Given the description of an element on the screen output the (x, y) to click on. 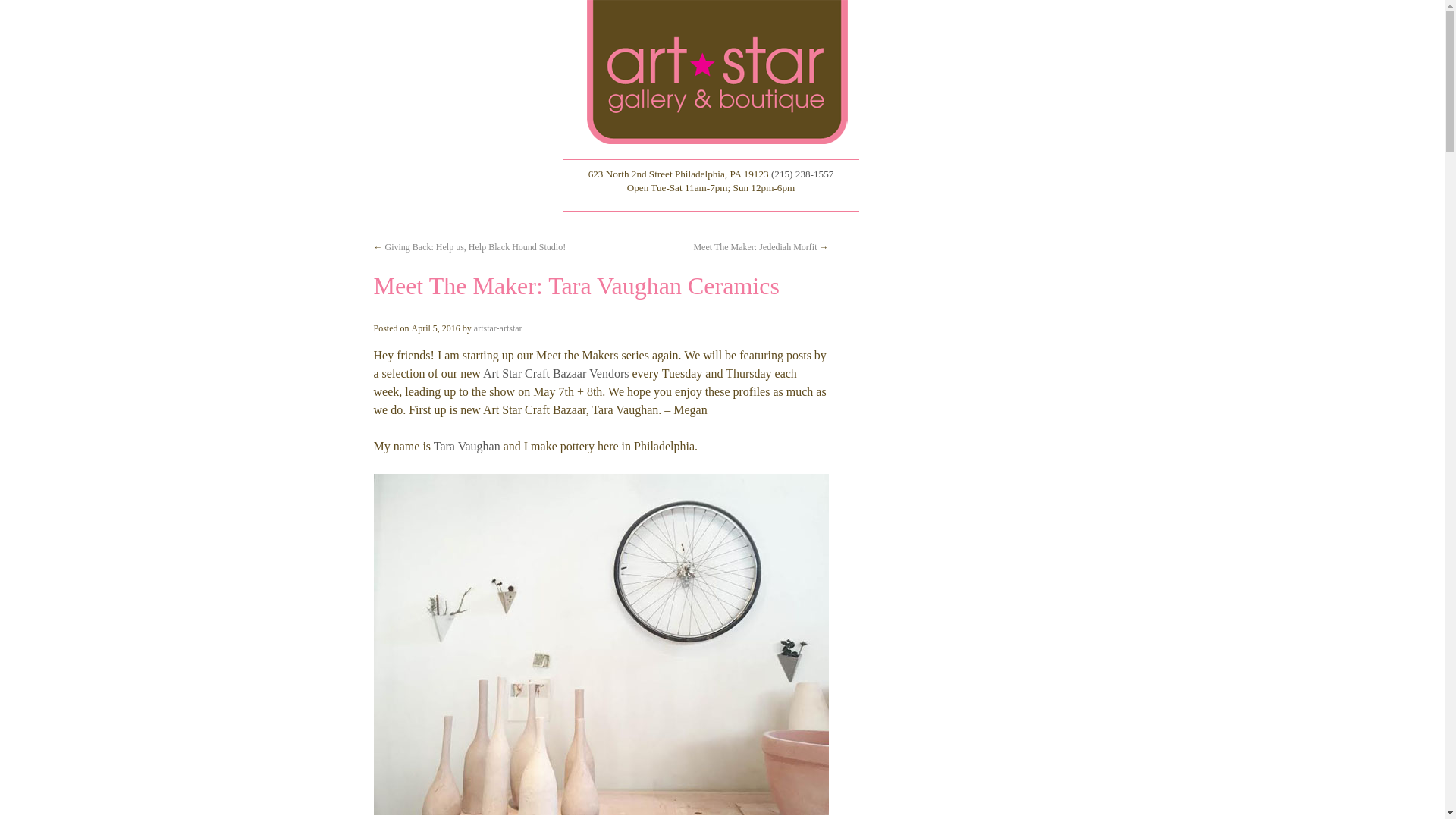
Art Star (721, 72)
Art Star Craft Bazaar Vendors (555, 373)
artstar-artstar (498, 327)
3:14 pm (436, 327)
View all posts by artstar-artstar (498, 327)
April 5, 2016 (436, 327)
Tara Vaughan (466, 445)
